Given the description of an element on the screen output the (x, y) to click on. 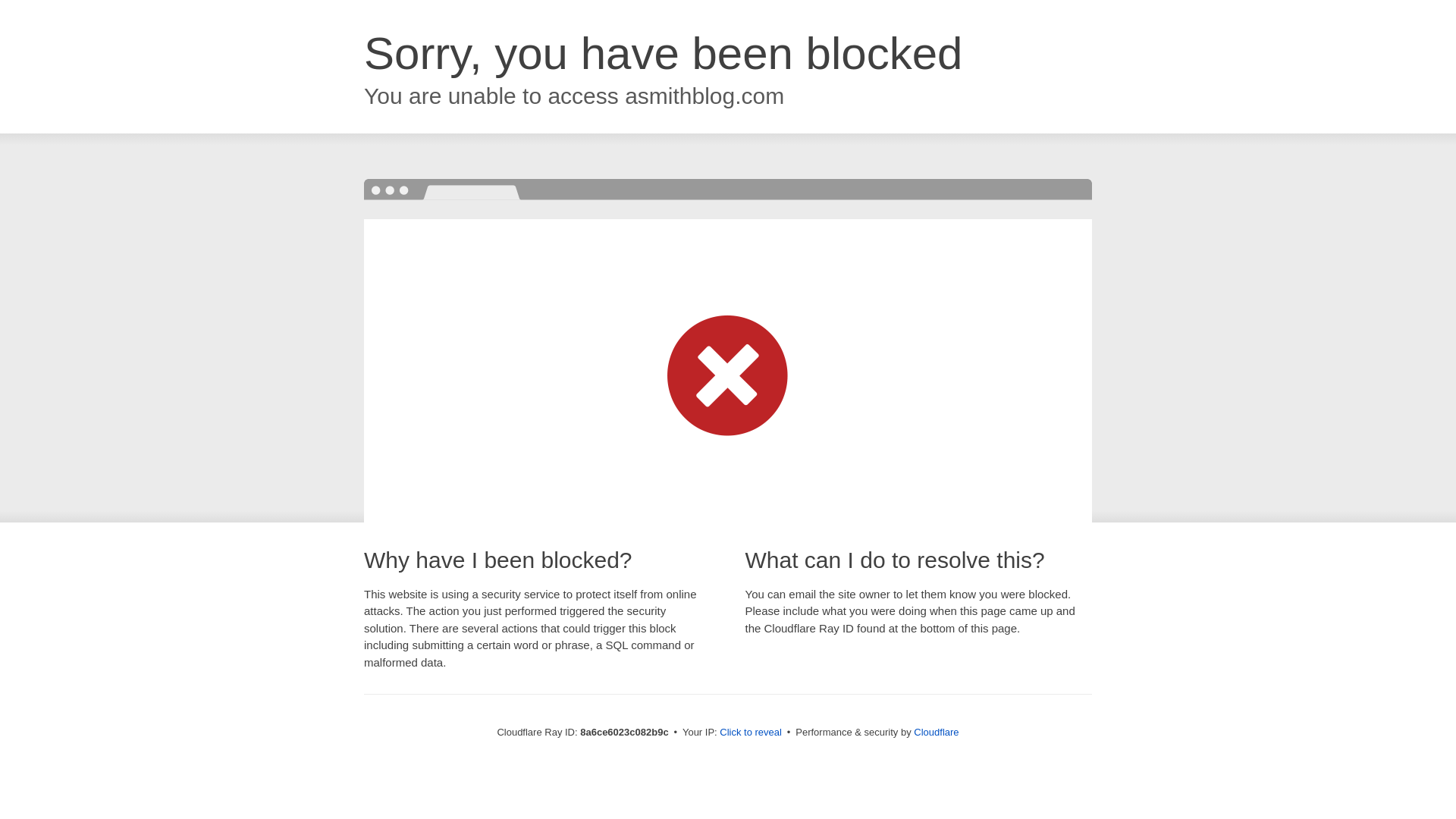
Cloudflare (936, 731)
Click to reveal (750, 732)
